Given the description of an element on the screen output the (x, y) to click on. 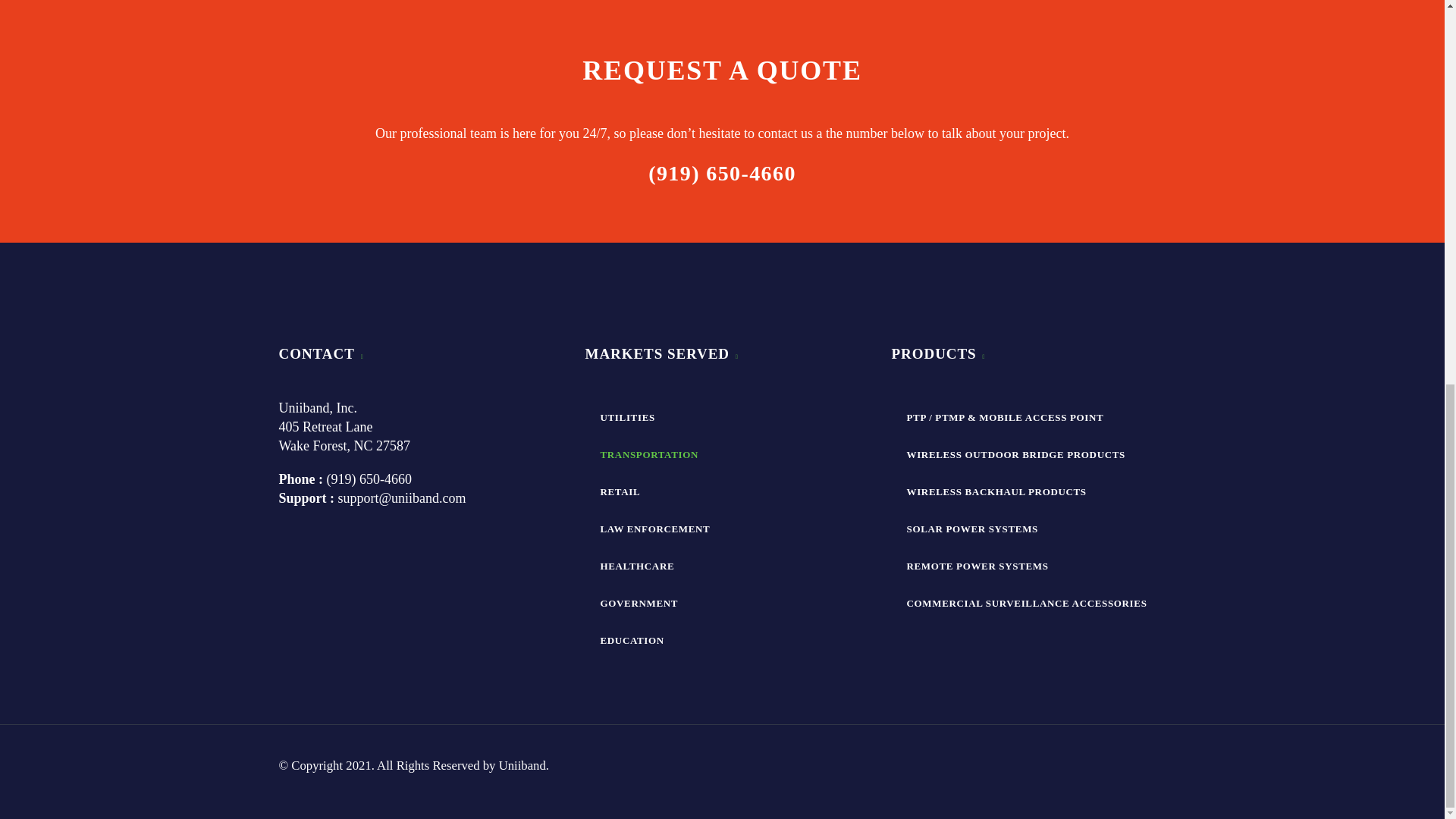
UTILITIES (722, 416)
EDUCATION (722, 640)
RETAIL (722, 491)
LAW ENFORCEMENT (722, 528)
COMMERCIAL SURVEILLANCE ACCESSORIES (1028, 602)
SOLAR POWER SYSTEMS (1028, 528)
WIRELESS BACKHAUL PRODUCTS (1028, 491)
TRANSPORTATION (722, 454)
HEALTHCARE (722, 565)
WIRELESS OUTDOOR BRIDGE PRODUCTS (1028, 454)
GOVERNMENT (722, 602)
REMOTE POWER SYSTEMS (1028, 565)
